Given the description of an element on the screen output the (x, y) to click on. 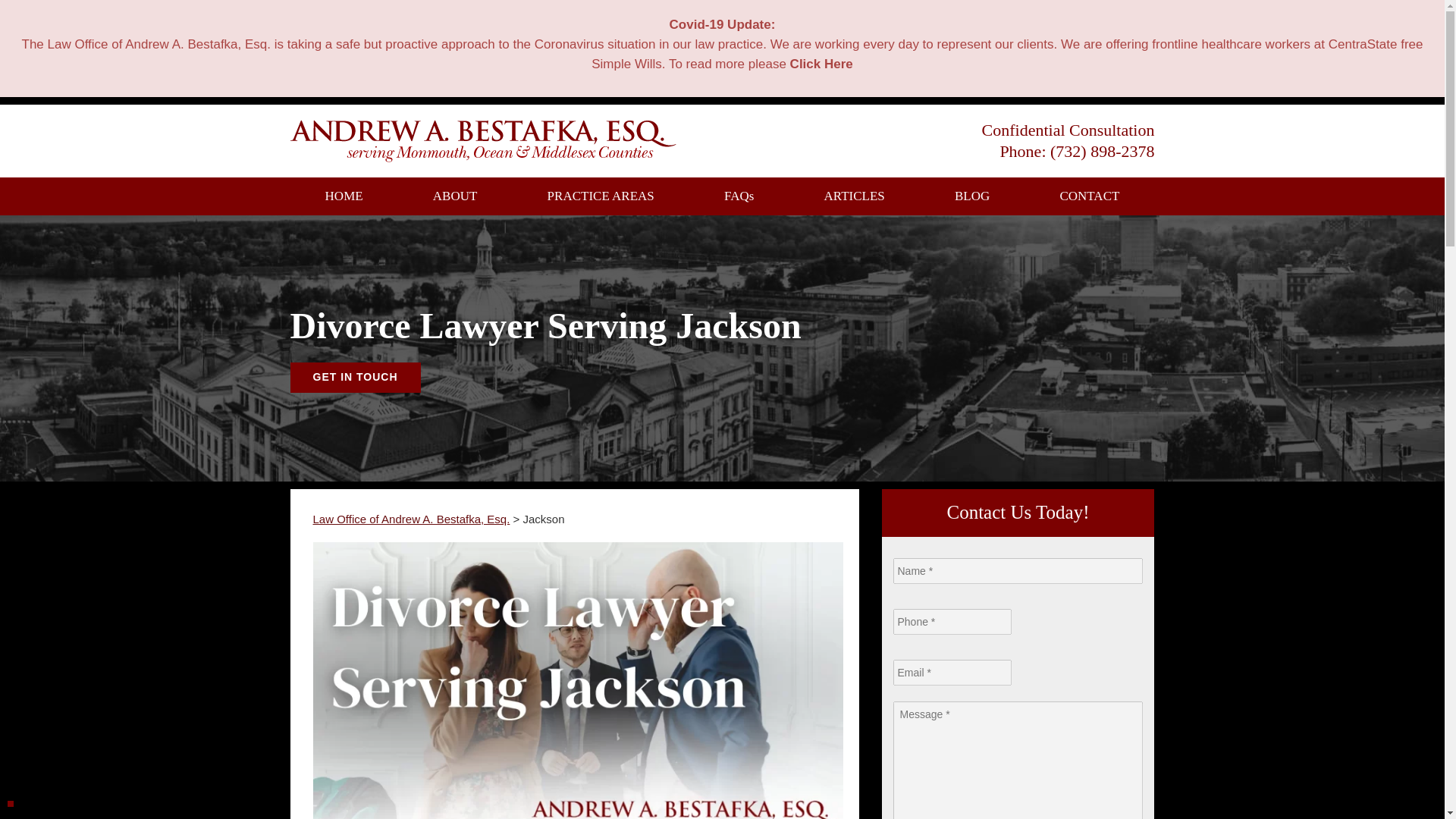
ARTICLES (853, 196)
PRACTICE AREAS (600, 196)
Law Office of Andrew A. Bestafka, Esq. (411, 518)
CONTACT (1089, 196)
Confidential Consultation (1067, 129)
FAQs (738, 196)
Go to Law Office of Andrew A. Bestafka, Esq.. (411, 518)
HOME (343, 196)
ABOUT (454, 196)
GET IN TOUCH (354, 377)
BLOG (972, 196)
